Given the description of an element on the screen output the (x, y) to click on. 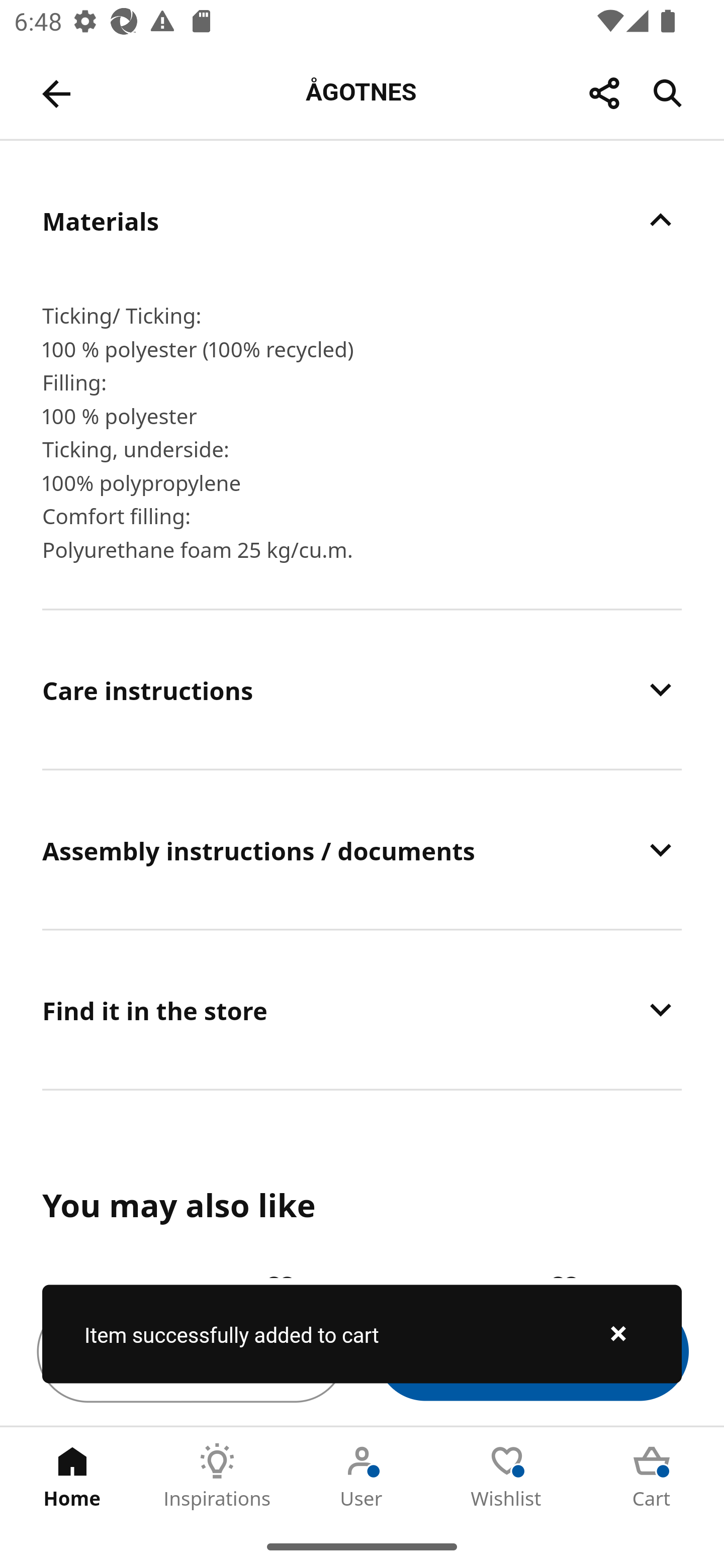
Materials (361, 219)
Care instructions (361, 688)
Assembly instructions / documents (361, 849)
Find it in the store (361, 1009)
Item successfully added to cart (361, 1333)
Home
Tab 1 of 5 (72, 1476)
Inspirations
Tab 2 of 5 (216, 1476)
User
Tab 3 of 5 (361, 1476)
Wishlist
Tab 4 of 5 (506, 1476)
Cart
Tab 5 of 5 (651, 1476)
